Given the description of an element on the screen output the (x, y) to click on. 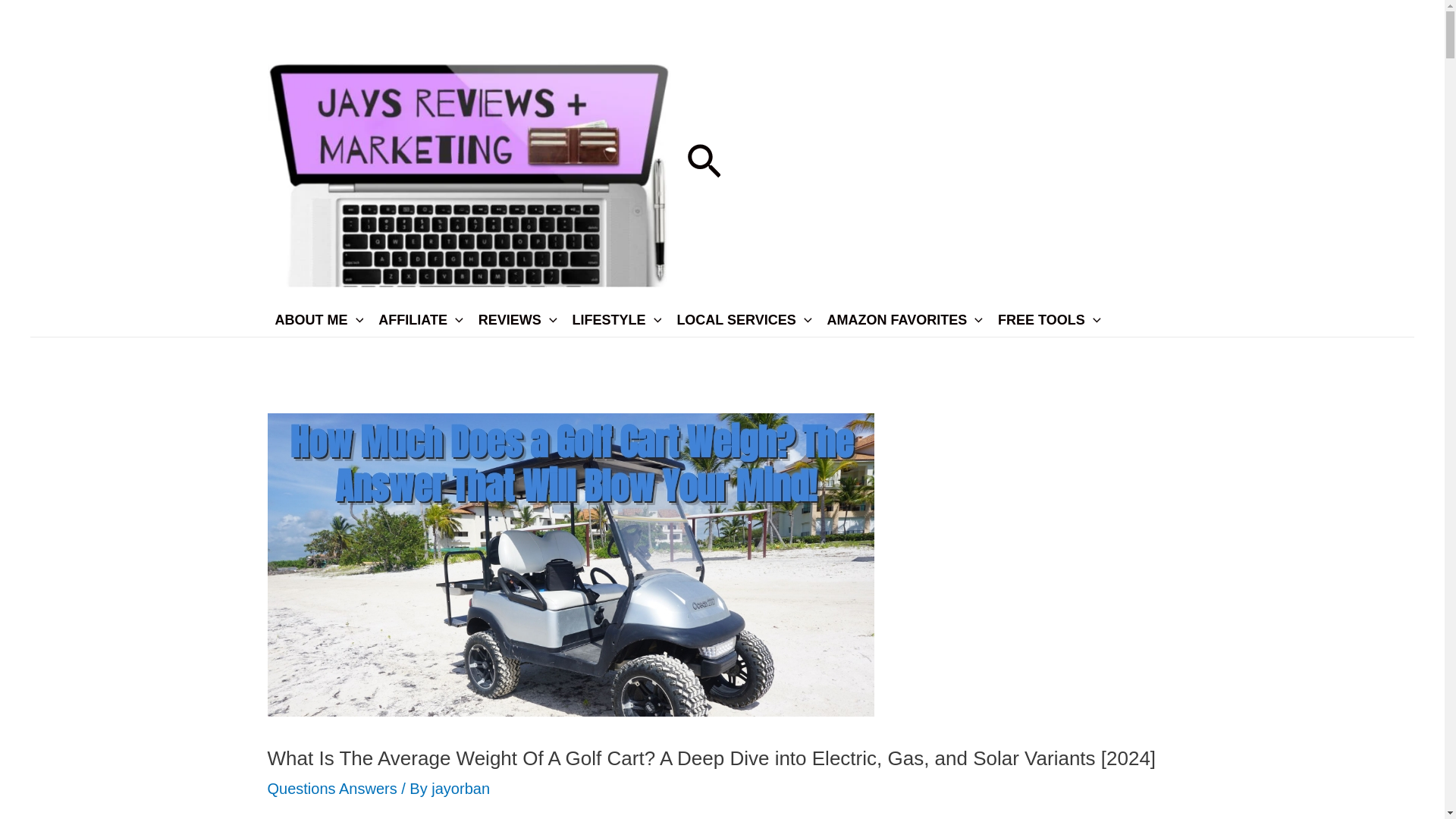
LIFESTYLE (616, 319)
AFFILIATE (420, 319)
Rockford Local Marketing Services (743, 319)
REVIEWS (517, 319)
ABOUT ME (318, 319)
Various products Reviews  (517, 319)
Learn All About Affiliate Marketing Here (420, 319)
